Given the description of an element on the screen output the (x, y) to click on. 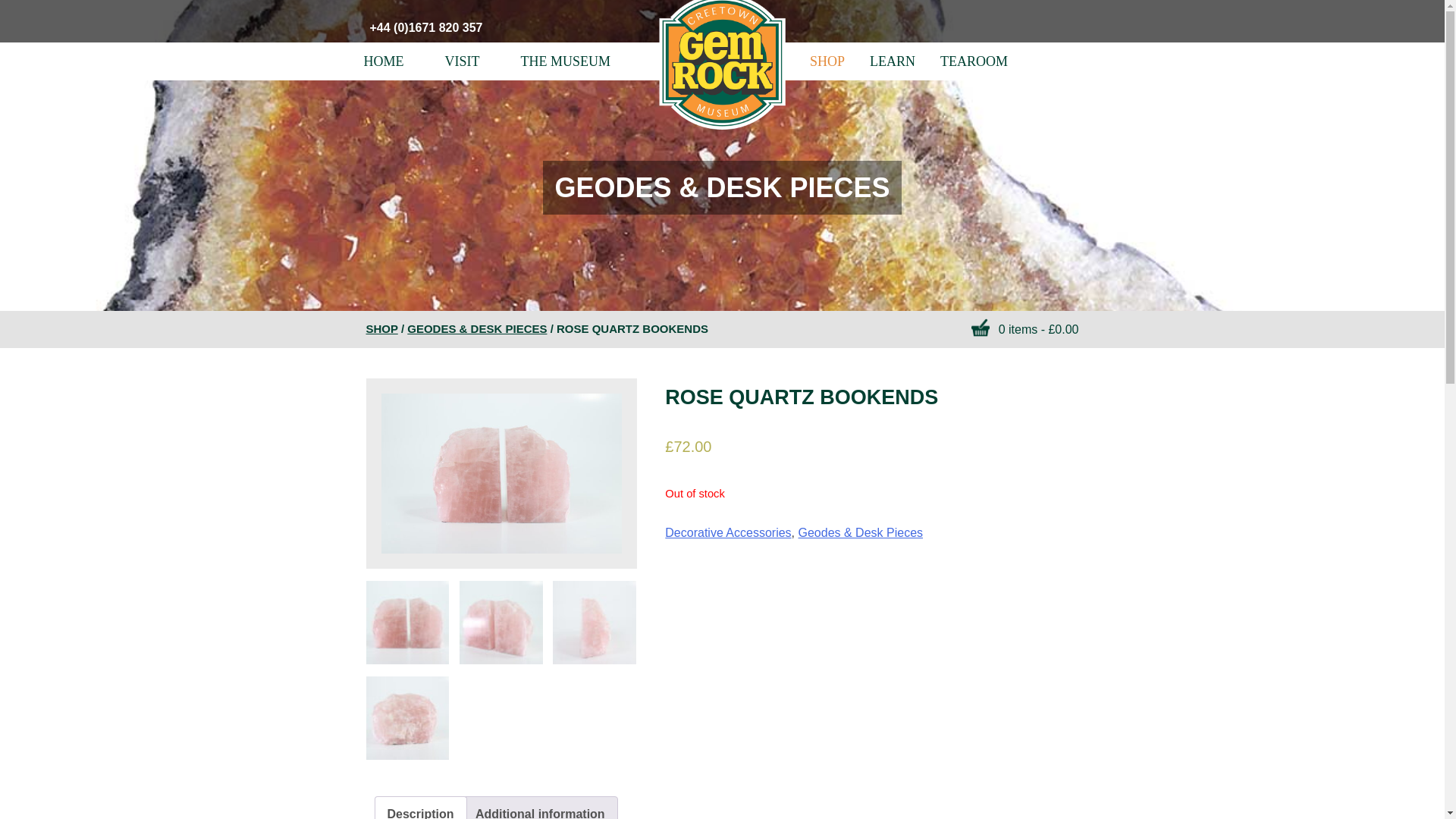
SHOP (820, 61)
SHOP (381, 328)
VISIT (462, 61)
View your shopping cart (1024, 329)
LEARN (895, 61)
Description (419, 807)
Decorative Accessories (727, 532)
TEAROOM (973, 61)
HOME (382, 61)
Additional information (540, 807)
THE MUSEUM (565, 61)
